Given the description of an element on the screen output the (x, y) to click on. 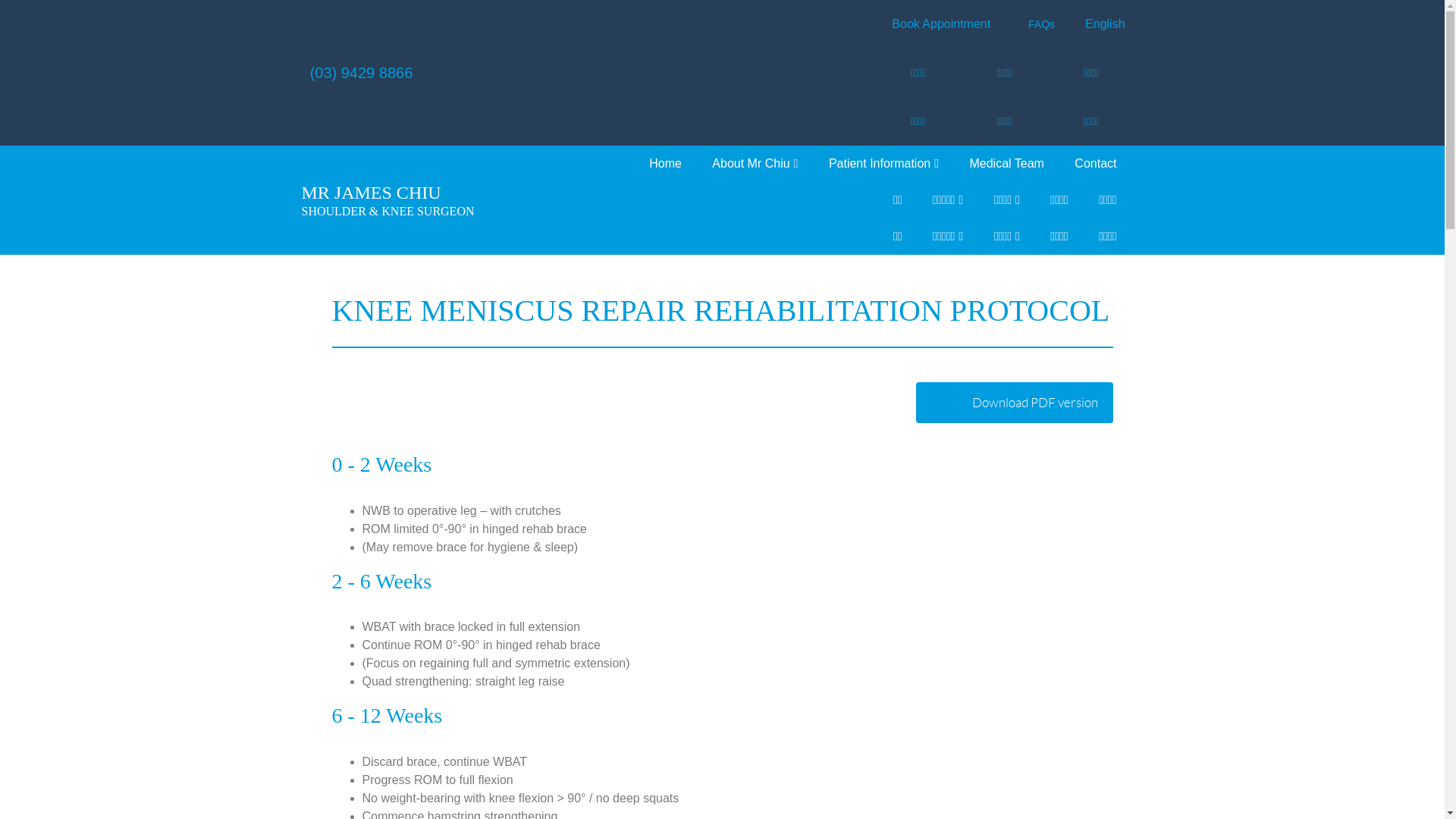
(03) 9429 8866 Element type: text (361, 72)
Download PDF version Element type: text (1014, 402)
SHOULDER & KNEE SURGEON Element type: text (387, 210)
Medical Team Element type: text (1005, 163)
Patient Information Element type: text (883, 163)
About Mr Chiu Element type: text (754, 163)
Home Element type: text (664, 163)
MR JAMES CHIU Element type: text (371, 192)
Contact Element type: text (1095, 163)
